Given the description of an element on the screen output the (x, y) to click on. 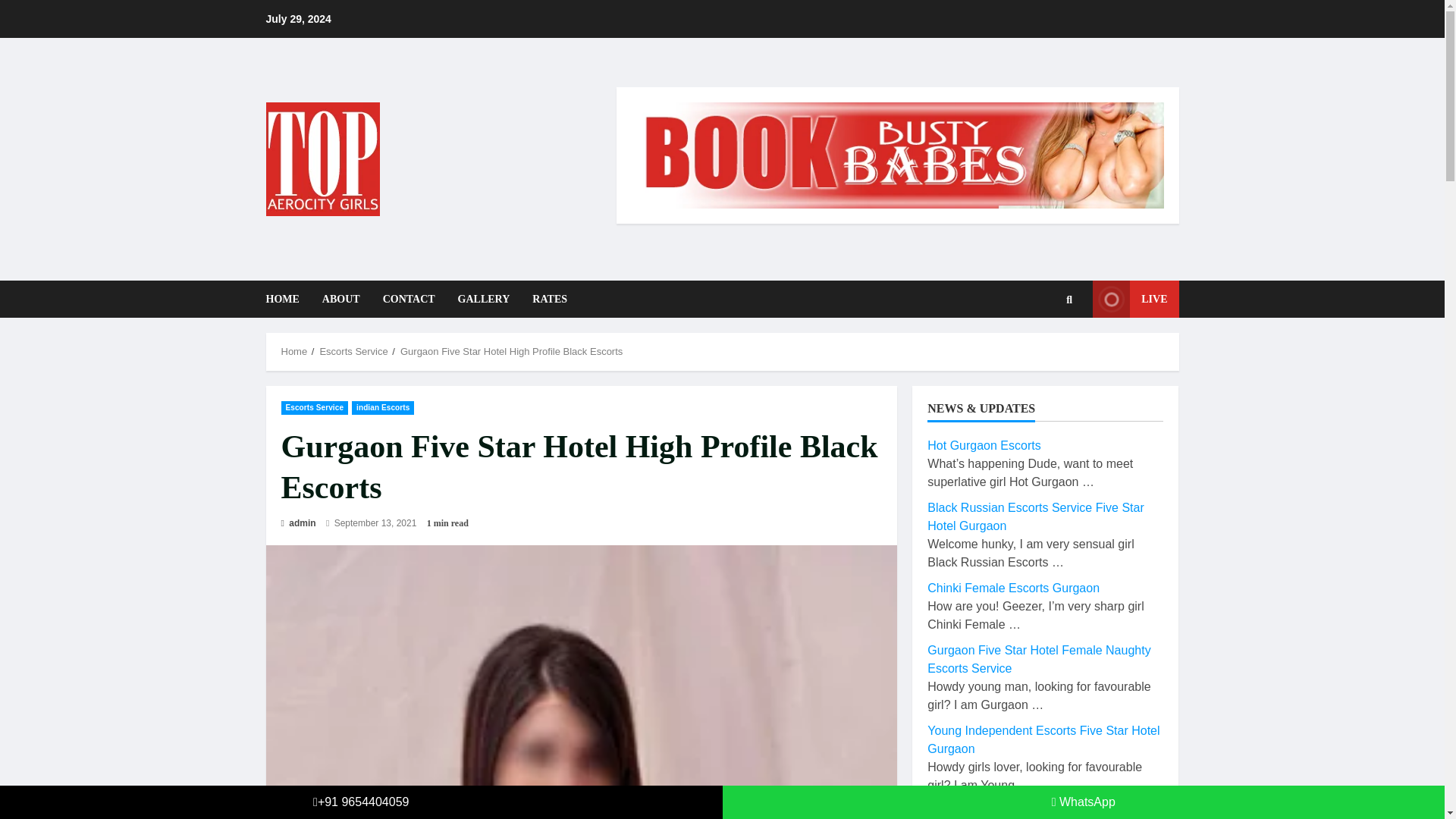
HOME (287, 298)
Escorts Service (314, 407)
ABOUT (341, 298)
Search (1045, 350)
Home (294, 351)
LIVE (1135, 298)
RATES (544, 298)
Gurgaon Five Star Hotel High Profile Black Escorts (511, 351)
admin (298, 522)
CONTACT (408, 298)
GALLERY (483, 298)
indian Escorts (382, 407)
Escorts Service (352, 351)
